Given the description of an element on the screen output the (x, y) to click on. 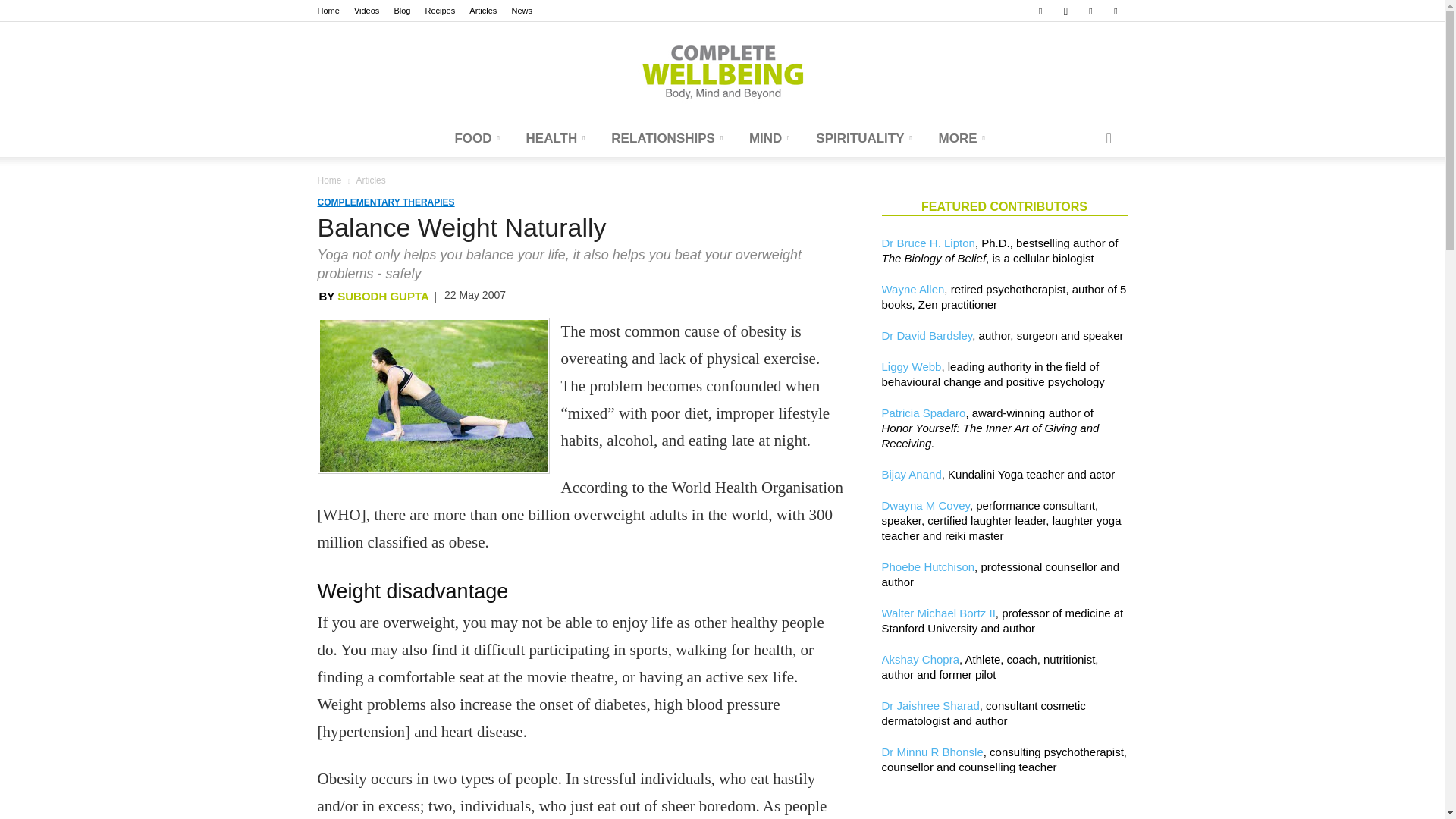
Videos (365, 10)
Blog (401, 10)
Recipes (439, 10)
Twitter (1114, 10)
Home (328, 10)
Instagram (1065, 10)
Pinterest (1090, 10)
Posts by Subodh Gupta (383, 295)
Facebook (1040, 10)
BODY, MIND AND BEYOND (721, 71)
